Given the description of an element on the screen output the (x, y) to click on. 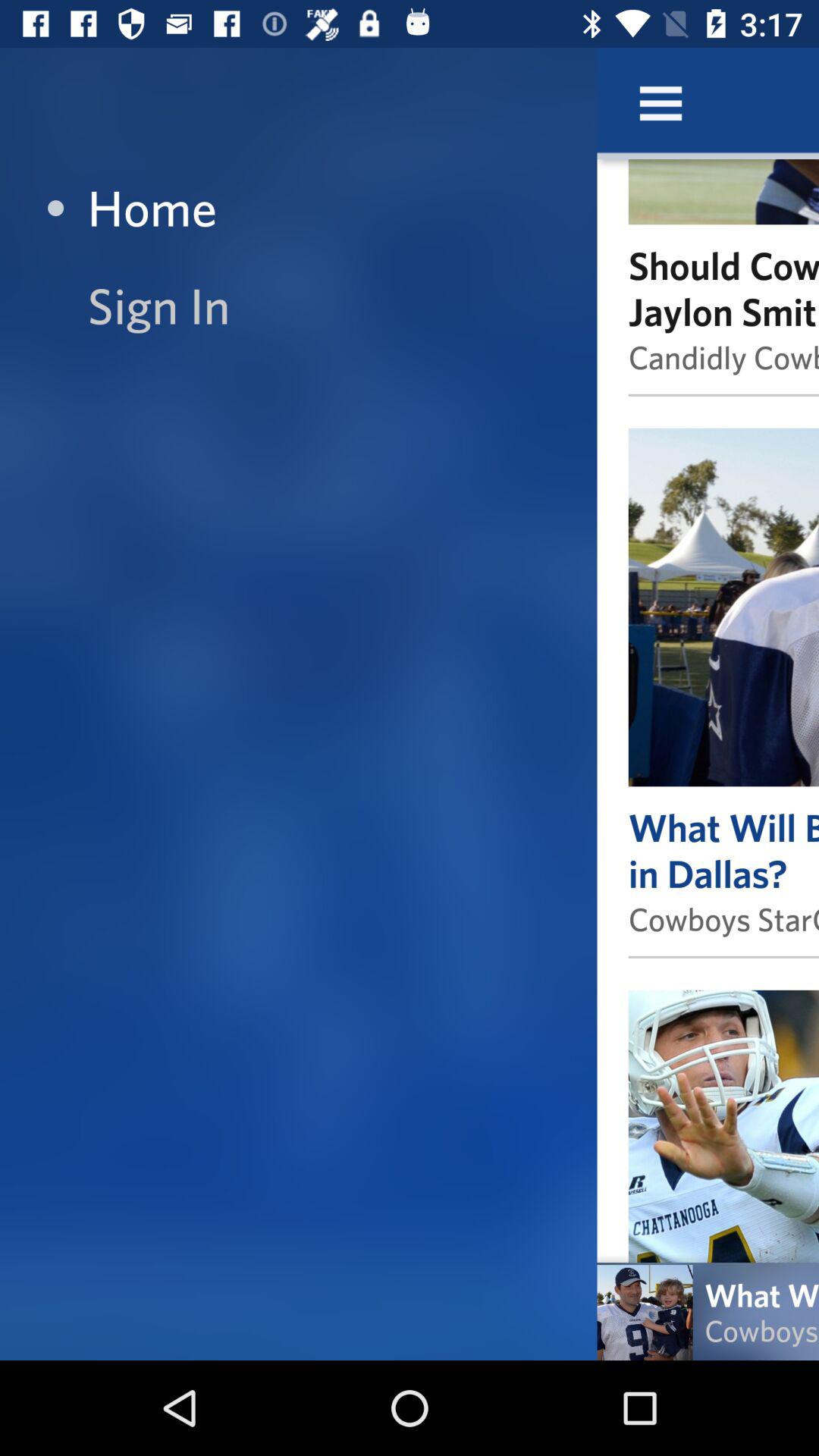
go to menu (660, 103)
